Given the description of an element on the screen output the (x, y) to click on. 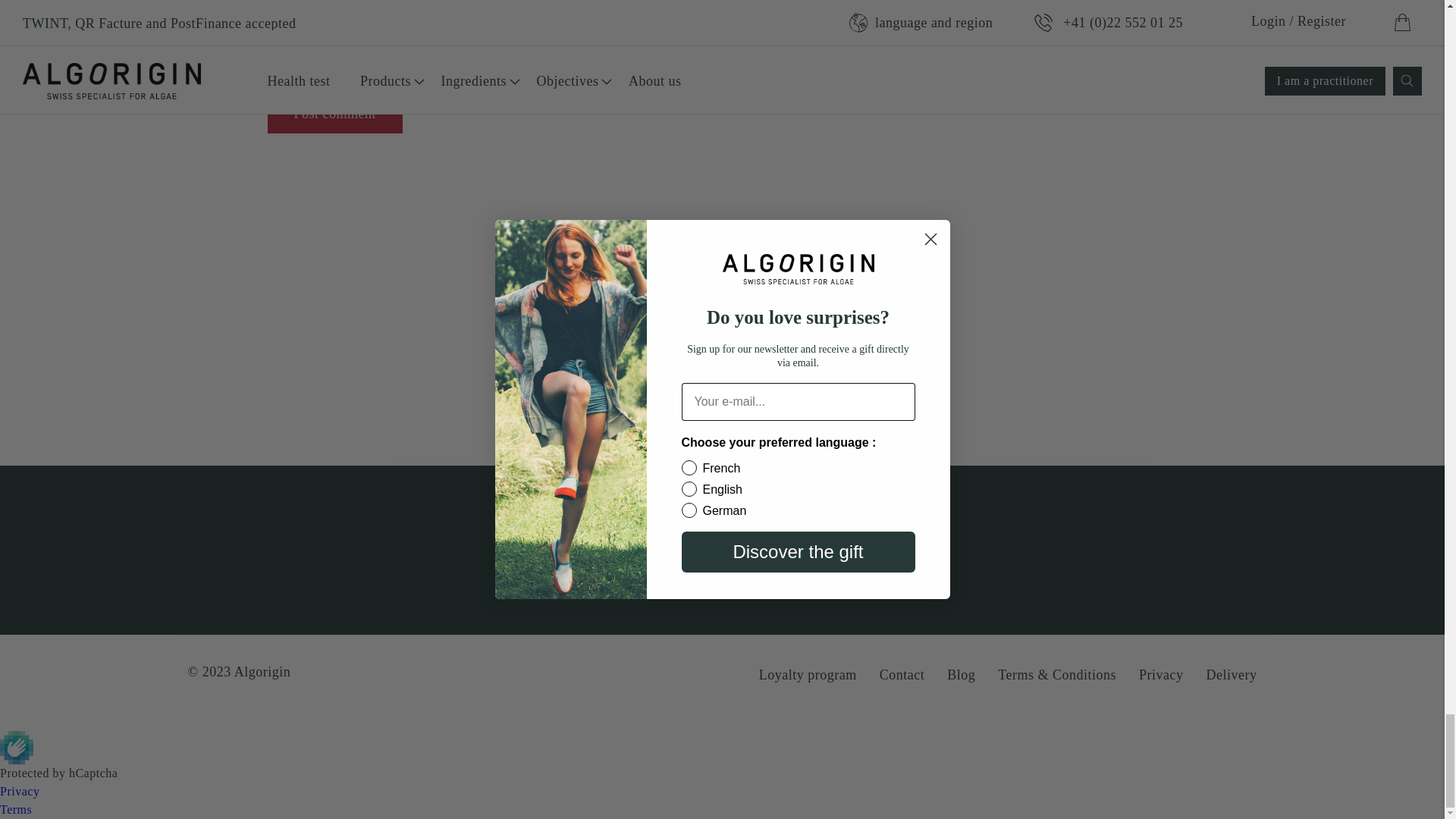
Post comment (334, 113)
